Given the description of an element on the screen output the (x, y) to click on. 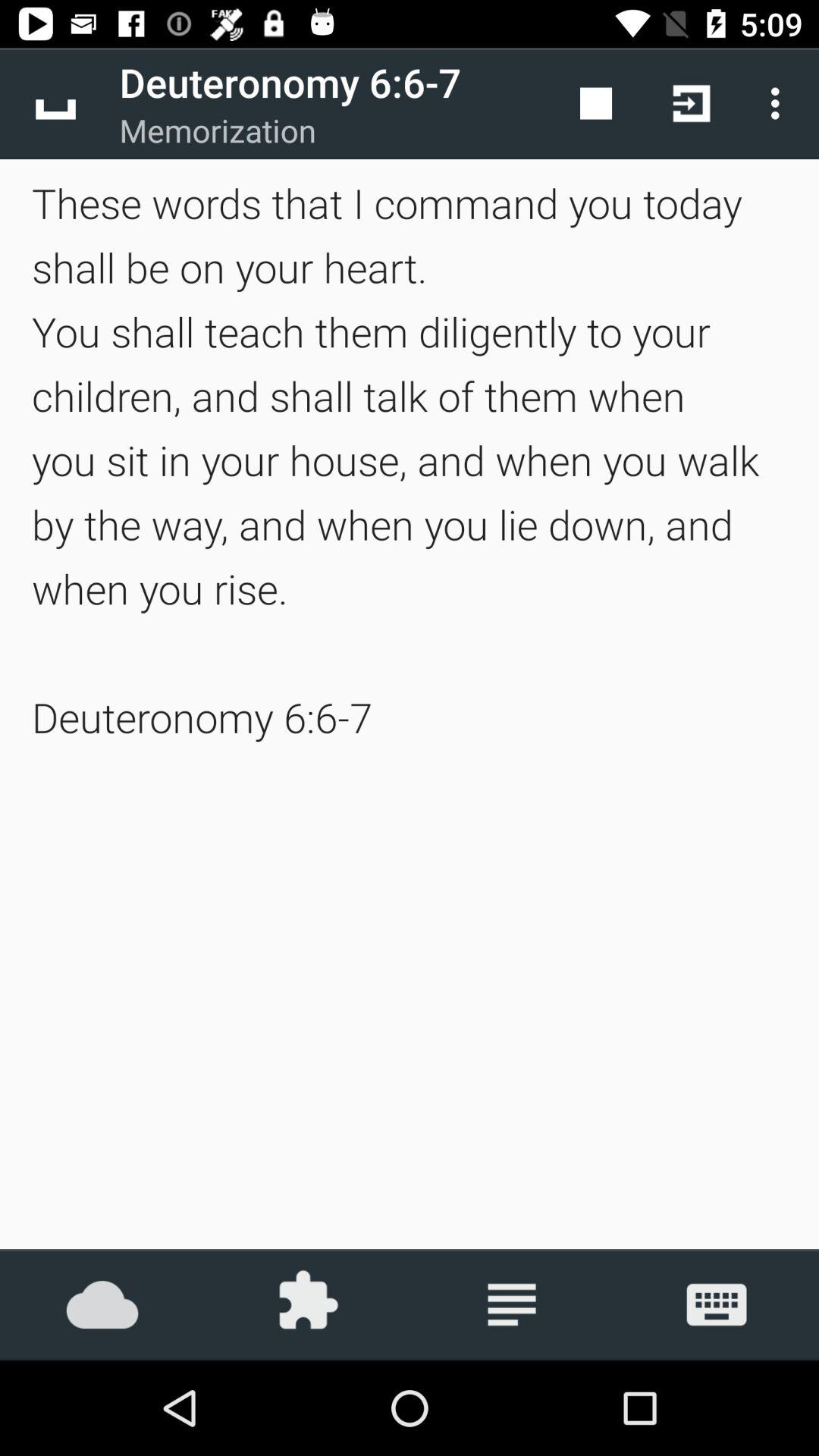
press these words that (409, 459)
